Given the description of an element on the screen output the (x, y) to click on. 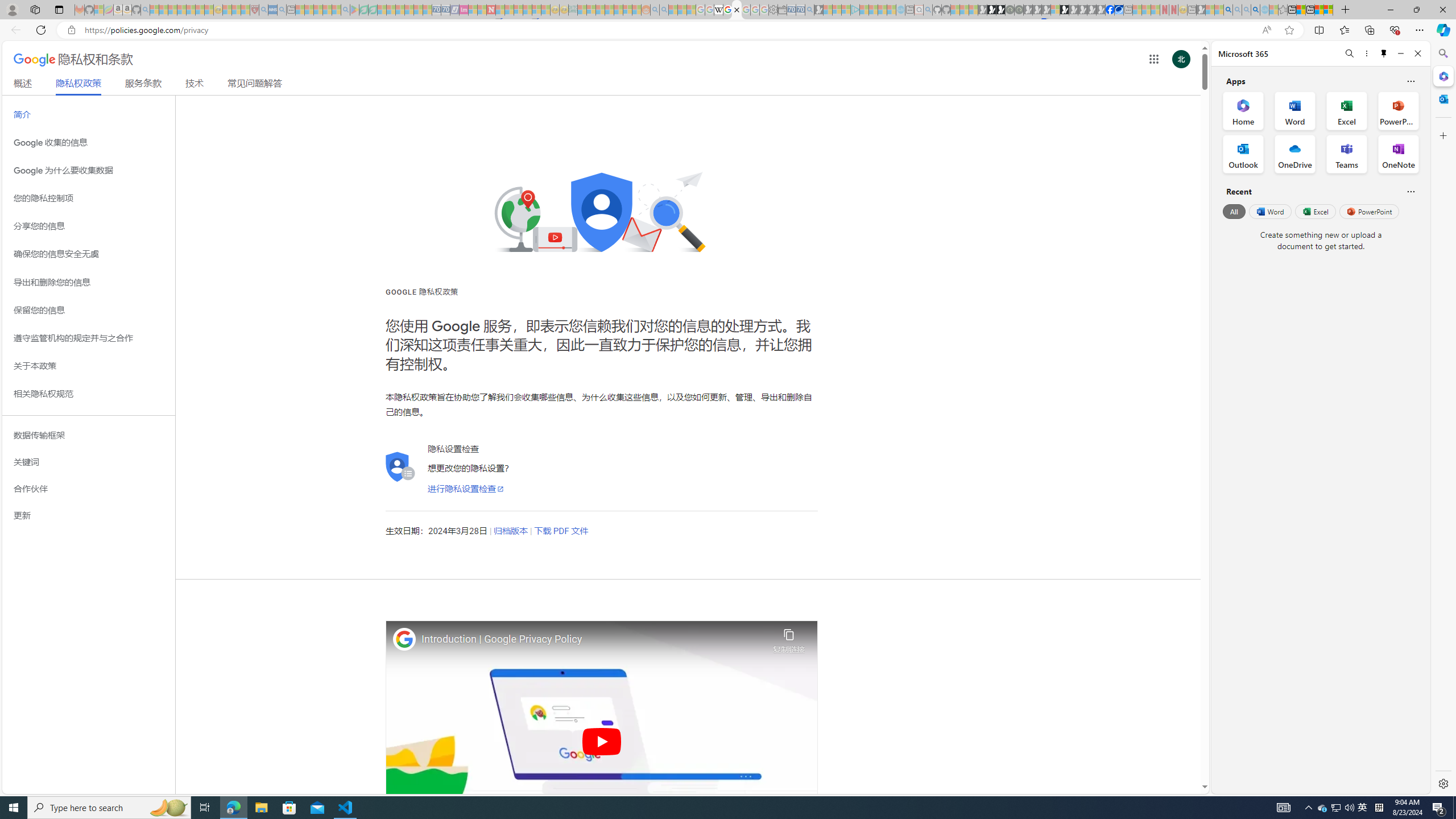
Close Microsoft 365 pane (1442, 76)
Play Zoo Boom in your browser | Games from Microsoft Start (991, 9)
Google Chrome Internet Browser Download - Search Images (1255, 9)
